Given the description of an element on the screen output the (x, y) to click on. 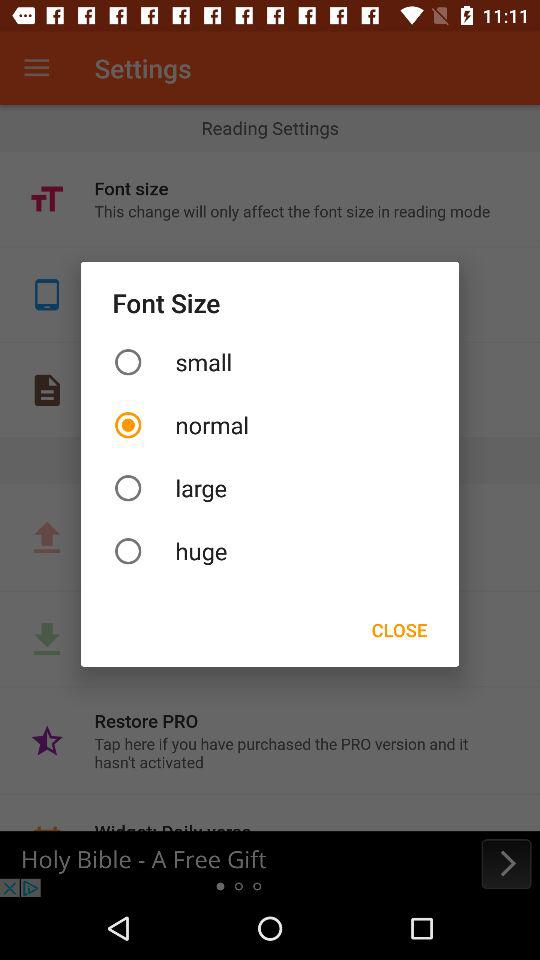
choose item above close icon (270, 550)
